Given the description of an element on the screen output the (x, y) to click on. 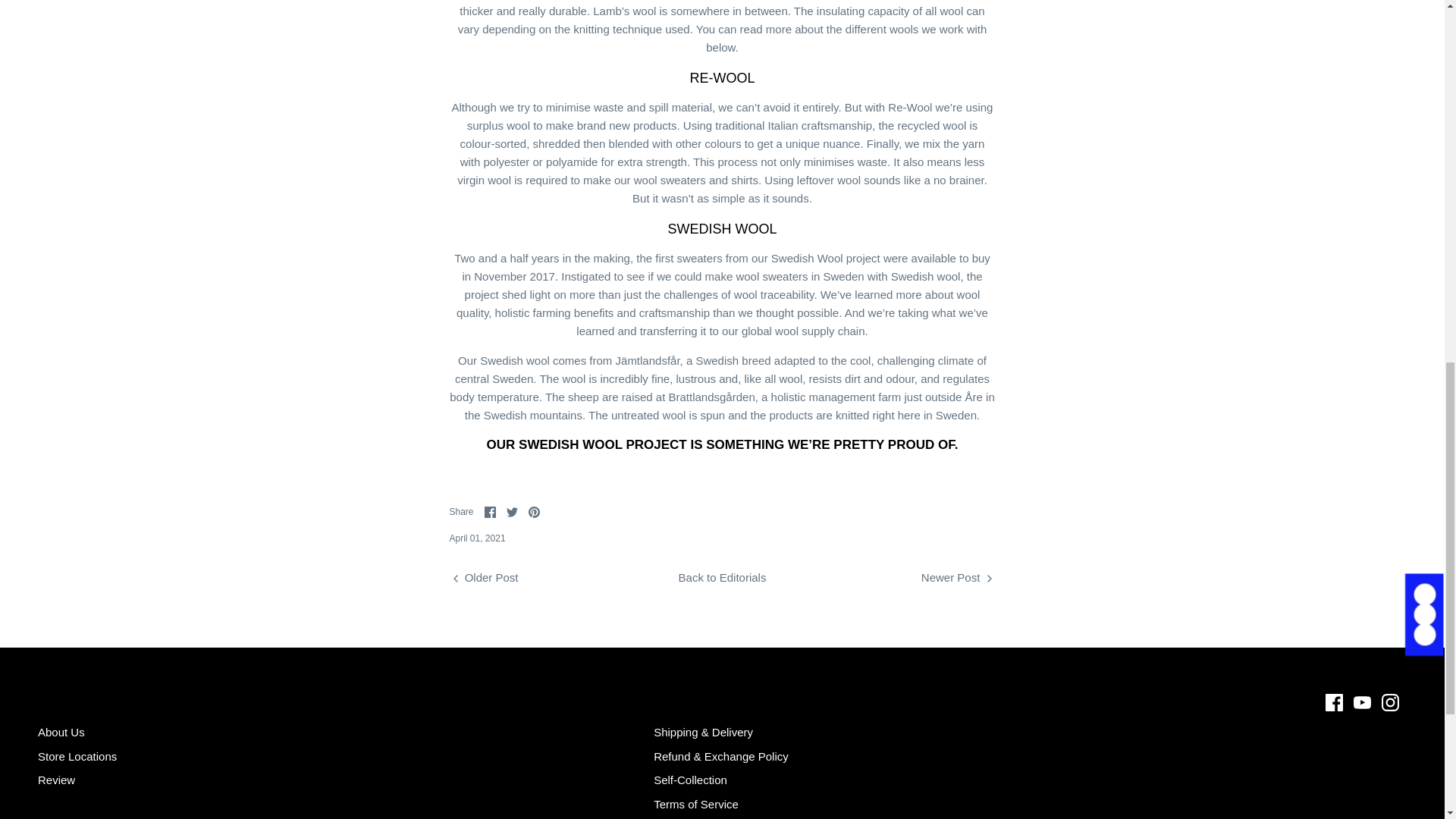
Facebook (490, 511)
Youtube (1362, 702)
Pinterest (534, 511)
Left (454, 578)
Instagram (1390, 702)
Twitter (512, 511)
Right (988, 578)
Facebook (1333, 702)
